Given the description of an element on the screen output the (x, y) to click on. 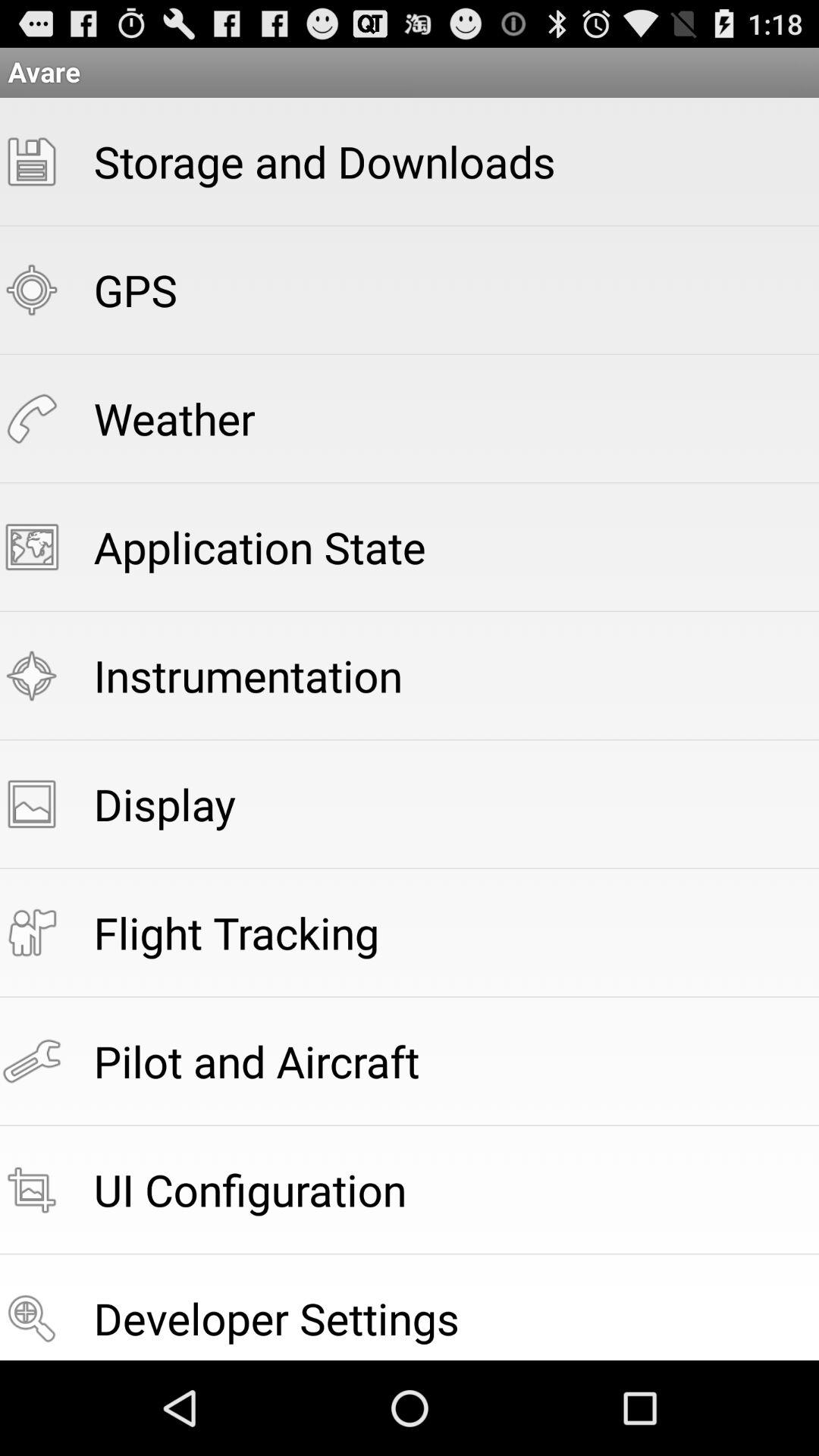
turn off the icon below the gps item (174, 418)
